Given the description of an element on the screen output the (x, y) to click on. 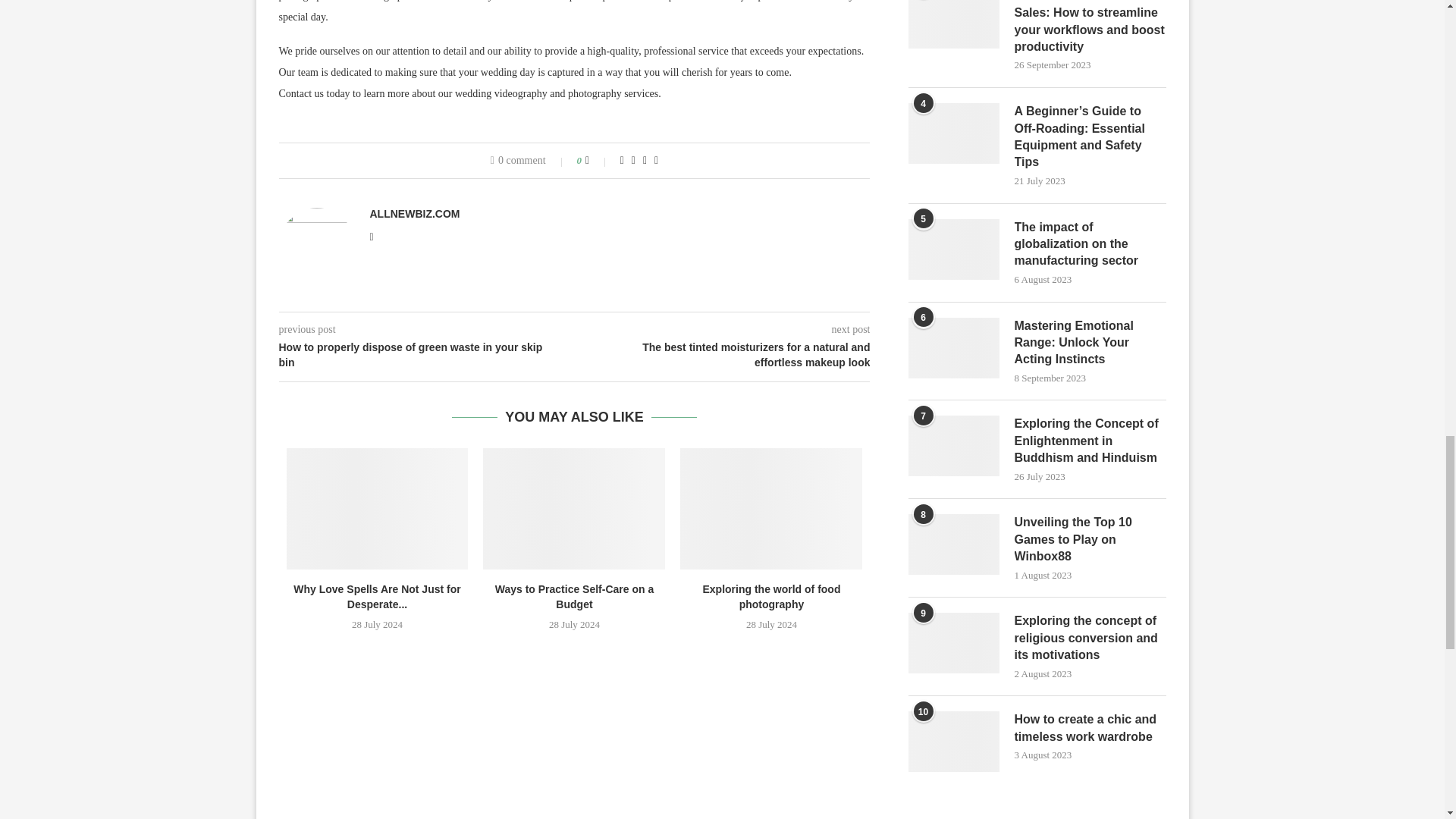
Author allnewbiz.com (414, 214)
ALLNEWBIZ.COM (414, 214)
Exploring the world of food photography (770, 508)
How to properly dispose of green waste in your skip bin (427, 355)
Like (597, 160)
Ways to Practice Self-Care on a Budget (574, 508)
Why Love Spells Are Not Just for Desperate People (377, 508)
